Given the description of an element on the screen output the (x, y) to click on. 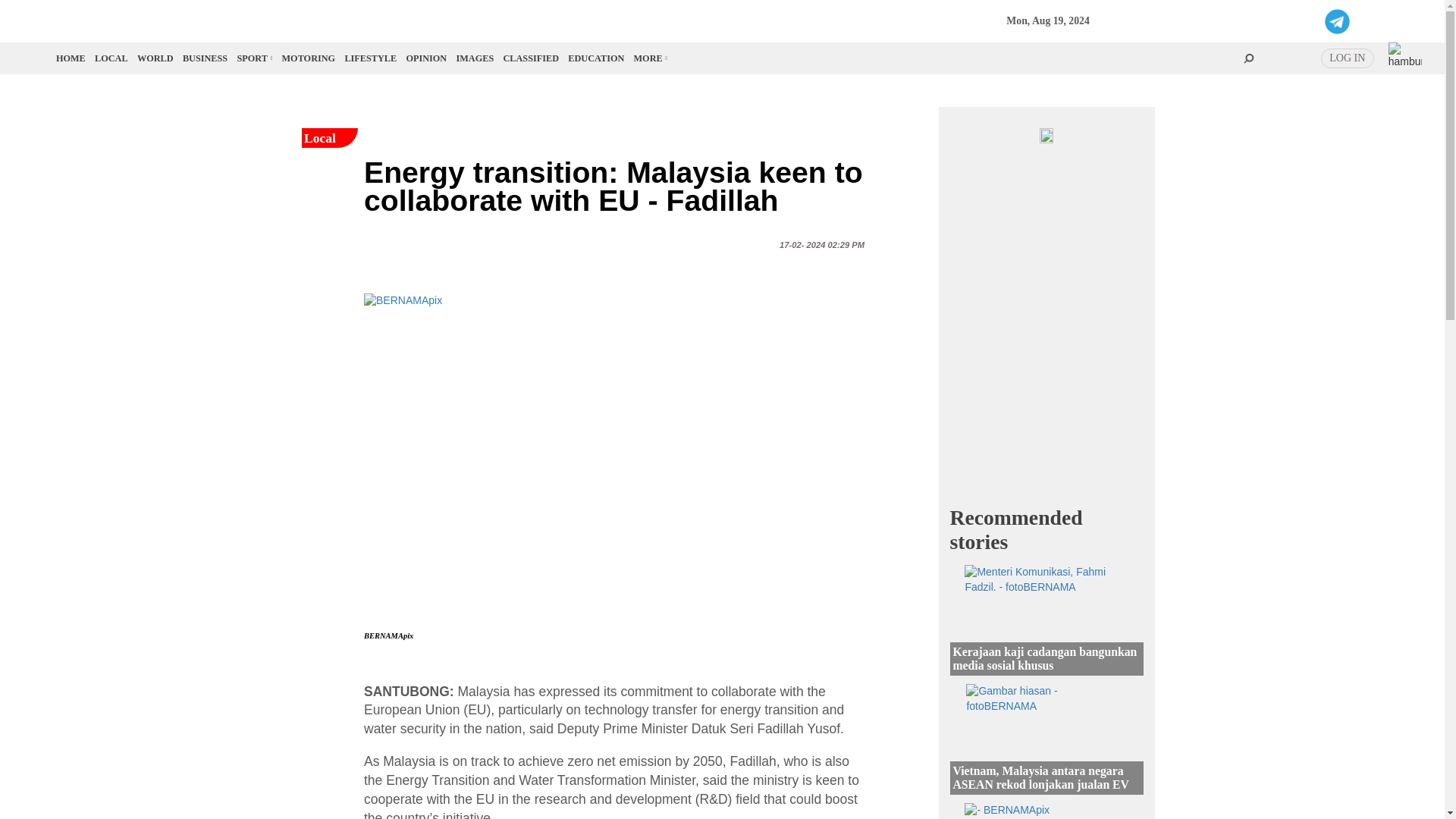
Home (70, 57)
MOTORING (309, 57)
CLASSIFIED (531, 57)
OPINION (426, 57)
LIFESTYLE (369, 57)
MORE (649, 57)
Local (111, 57)
IMAGES (476, 57)
HOME (70, 57)
LOG IN (1347, 57)
